Given the description of an element on the screen output the (x, y) to click on. 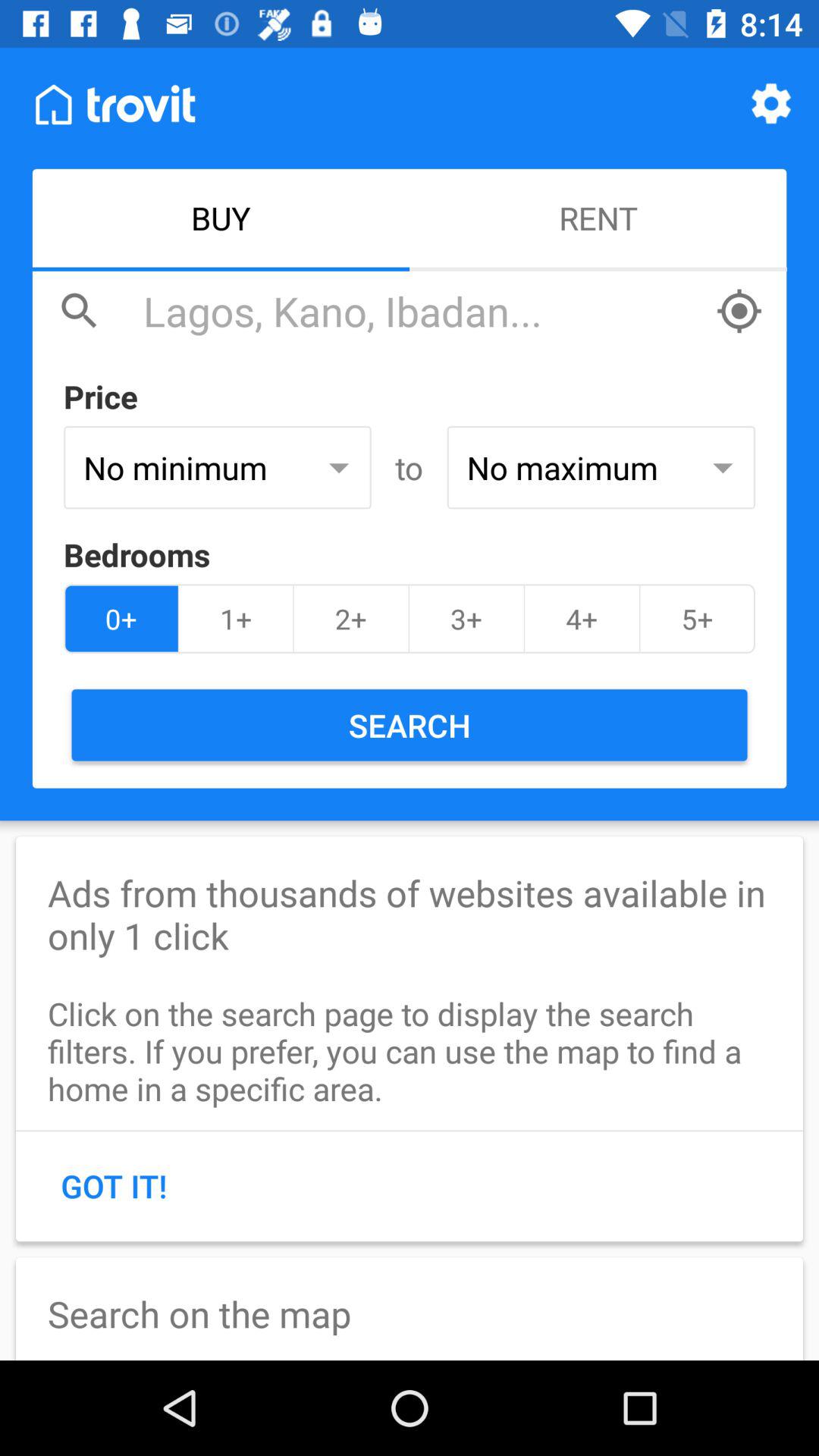
launch the icon next to 2+ item (466, 618)
